Given the description of an element on the screen output the (x, y) to click on. 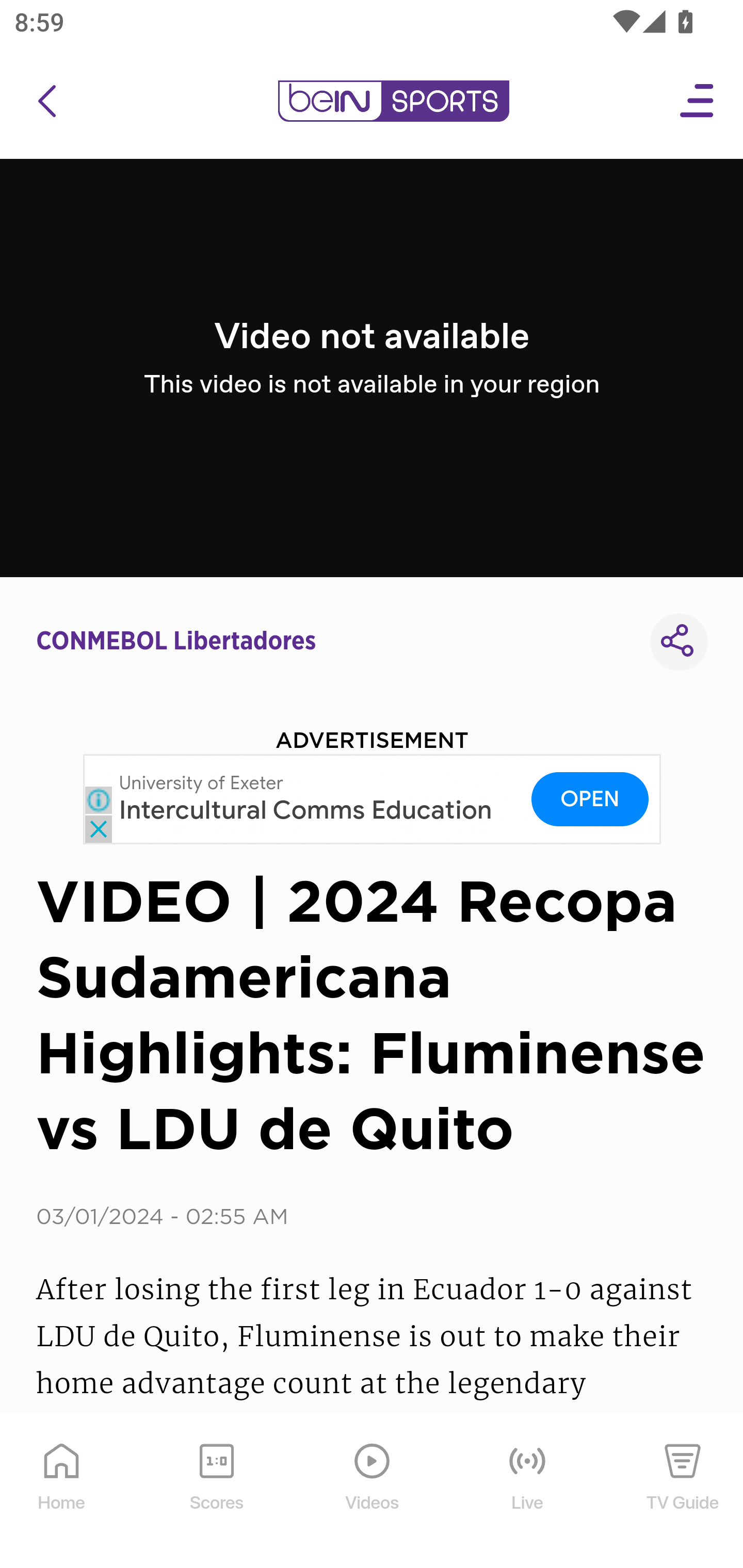
en-us?platform=mobile_android bein logo (392, 101)
icon back (46, 101)
Open Menu Icon (697, 101)
University of Exeter (201, 782)
OPEN (590, 798)
Intercultural Comms Education (305, 810)
Home Home Icon Home (61, 1491)
Scores Scores Icon Scores (216, 1491)
Videos Videos Icon Videos (372, 1491)
TV Guide TV Guide Icon TV Guide (682, 1491)
